Given the description of an element on the screen output the (x, y) to click on. 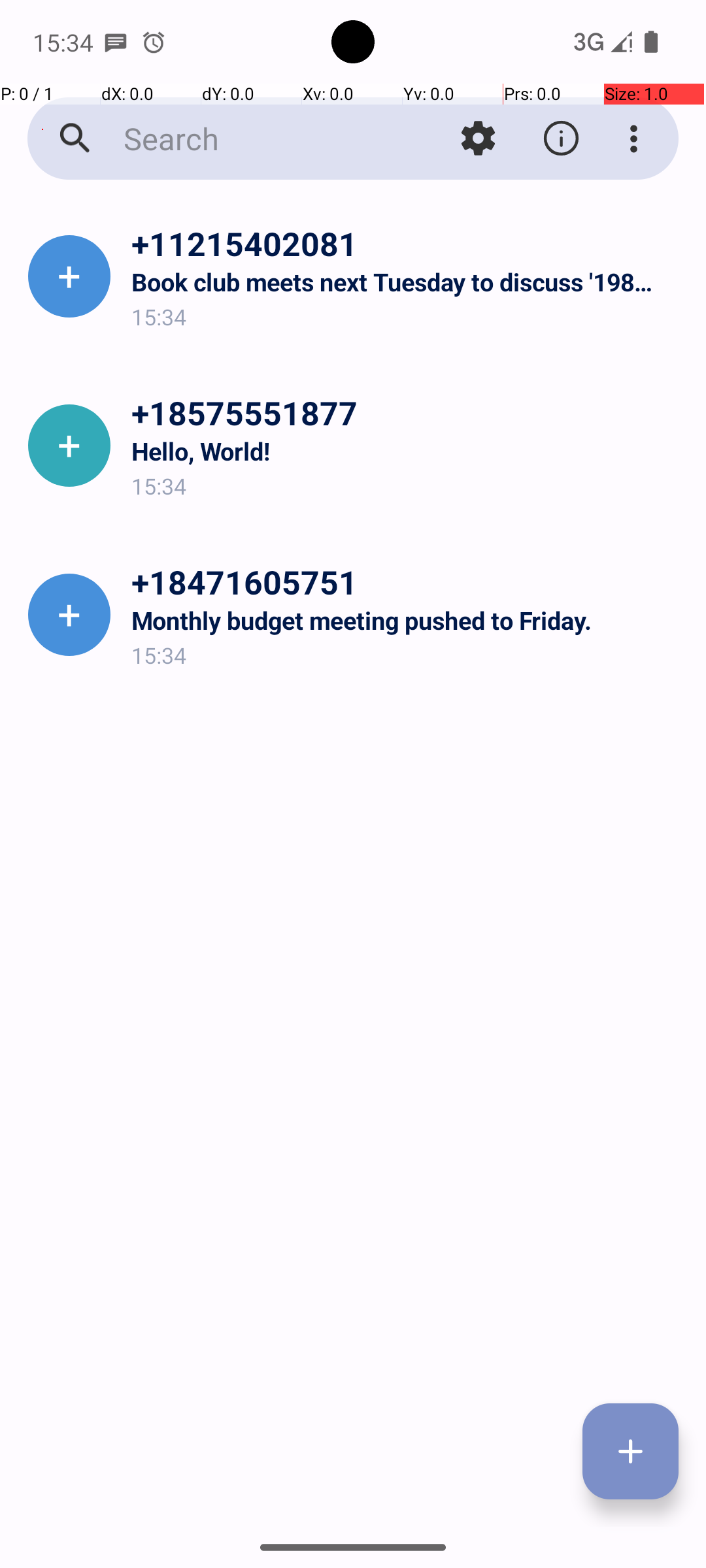
+11215402081 Element type: android.widget.TextView (408, 242)
+18575551877 Element type: android.widget.TextView (408, 412)
Hello, World! Element type: android.widget.TextView (408, 450)
+18471605751 Element type: android.widget.TextView (408, 581)
Monthly budget meeting pushed to Friday. Element type: android.widget.TextView (408, 620)
